Given the description of an element on the screen output the (x, y) to click on. 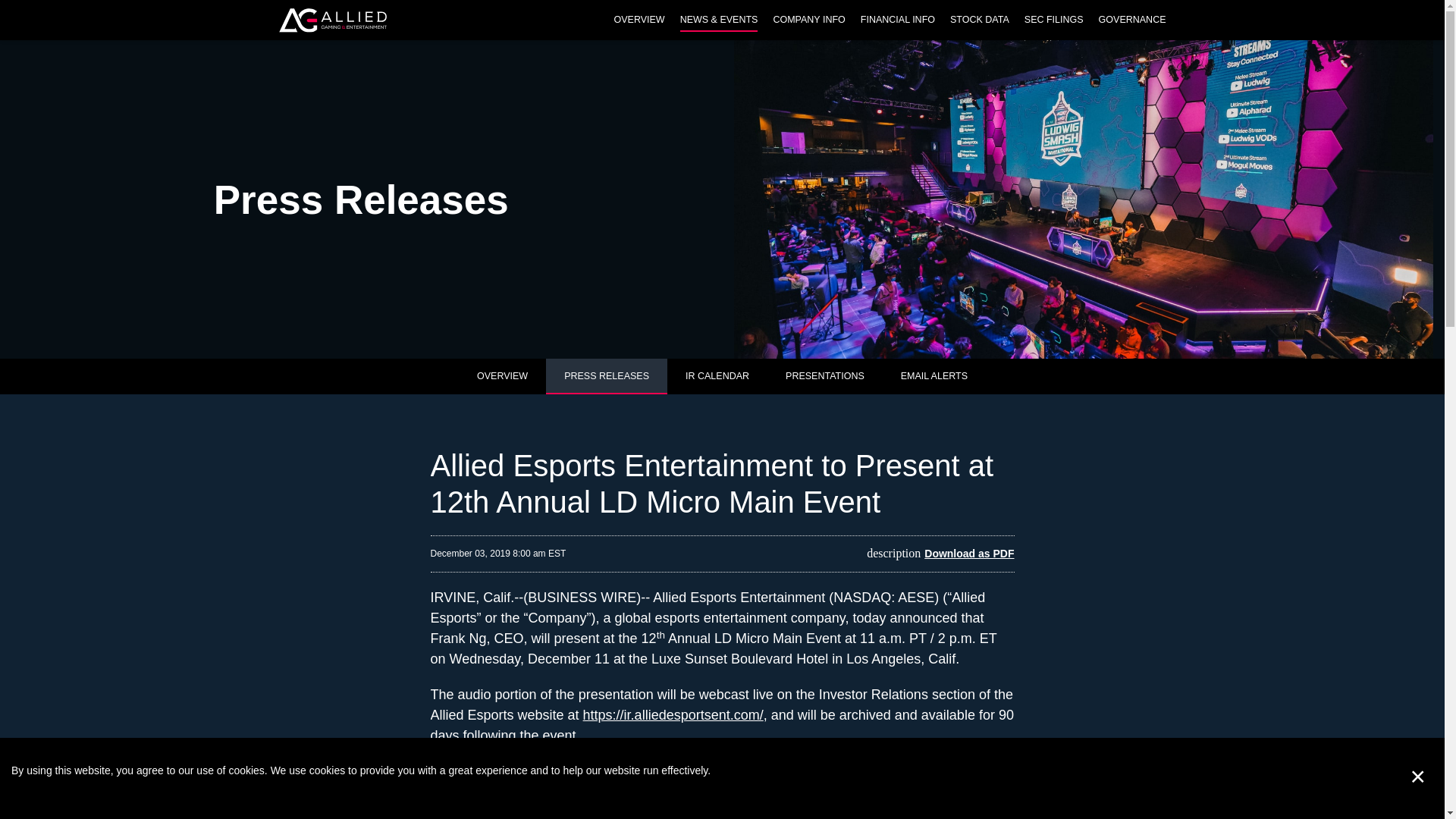
GOVERNANCE (1128, 26)
STOCK DATA (979, 26)
OVERVIEW (638, 26)
COMPANY INFO (808, 26)
SEC FILINGS (1053, 26)
FINANCIAL INFO (897, 26)
